Given the description of an element on the screen output the (x, y) to click on. 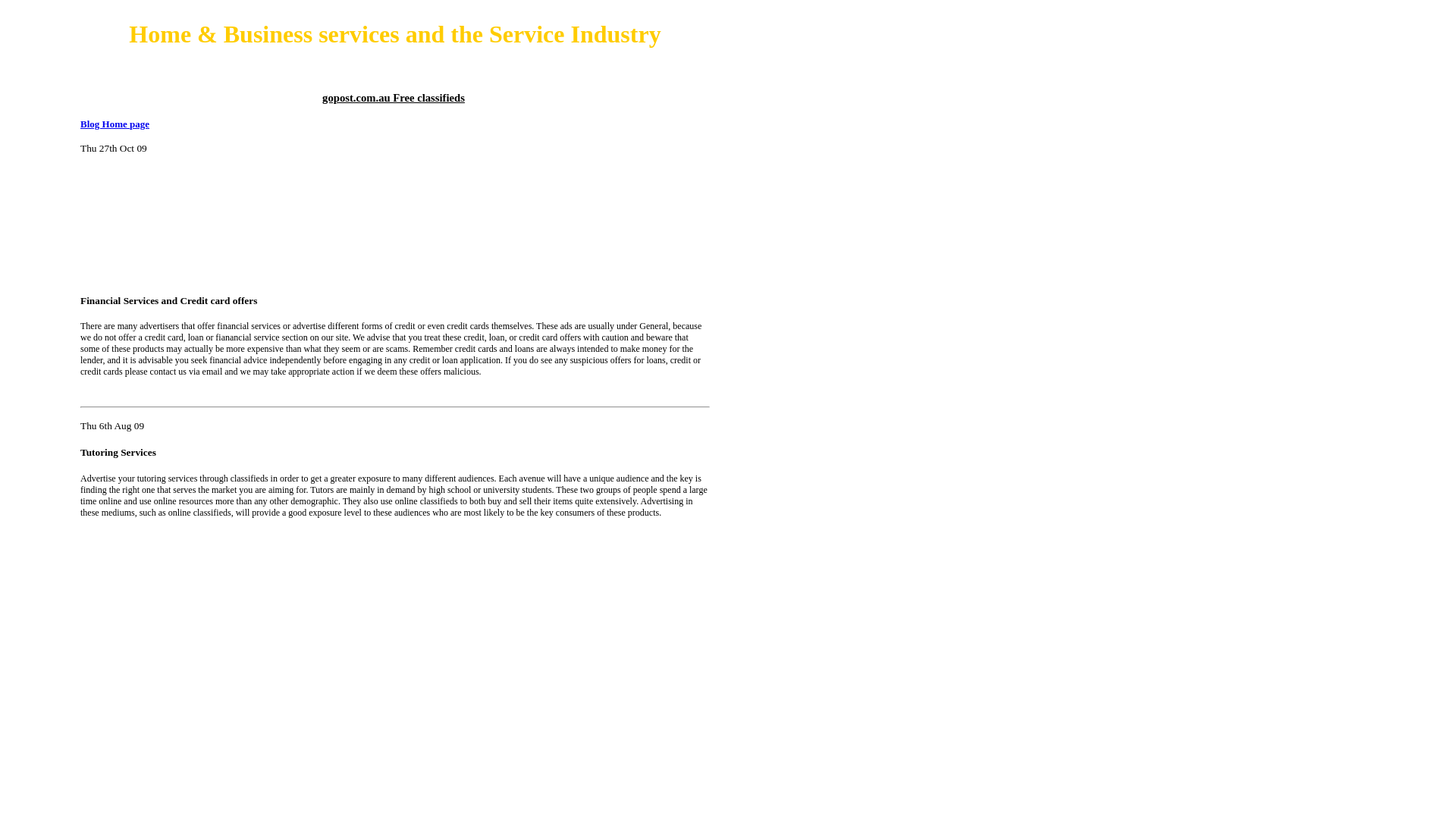
Blog Home page Element type: text (114, 123)
gopost.com.au Free classifieds Element type: text (393, 97)
Advertisement Element type: hover (148, 223)
